Given the description of an element on the screen output the (x, y) to click on. 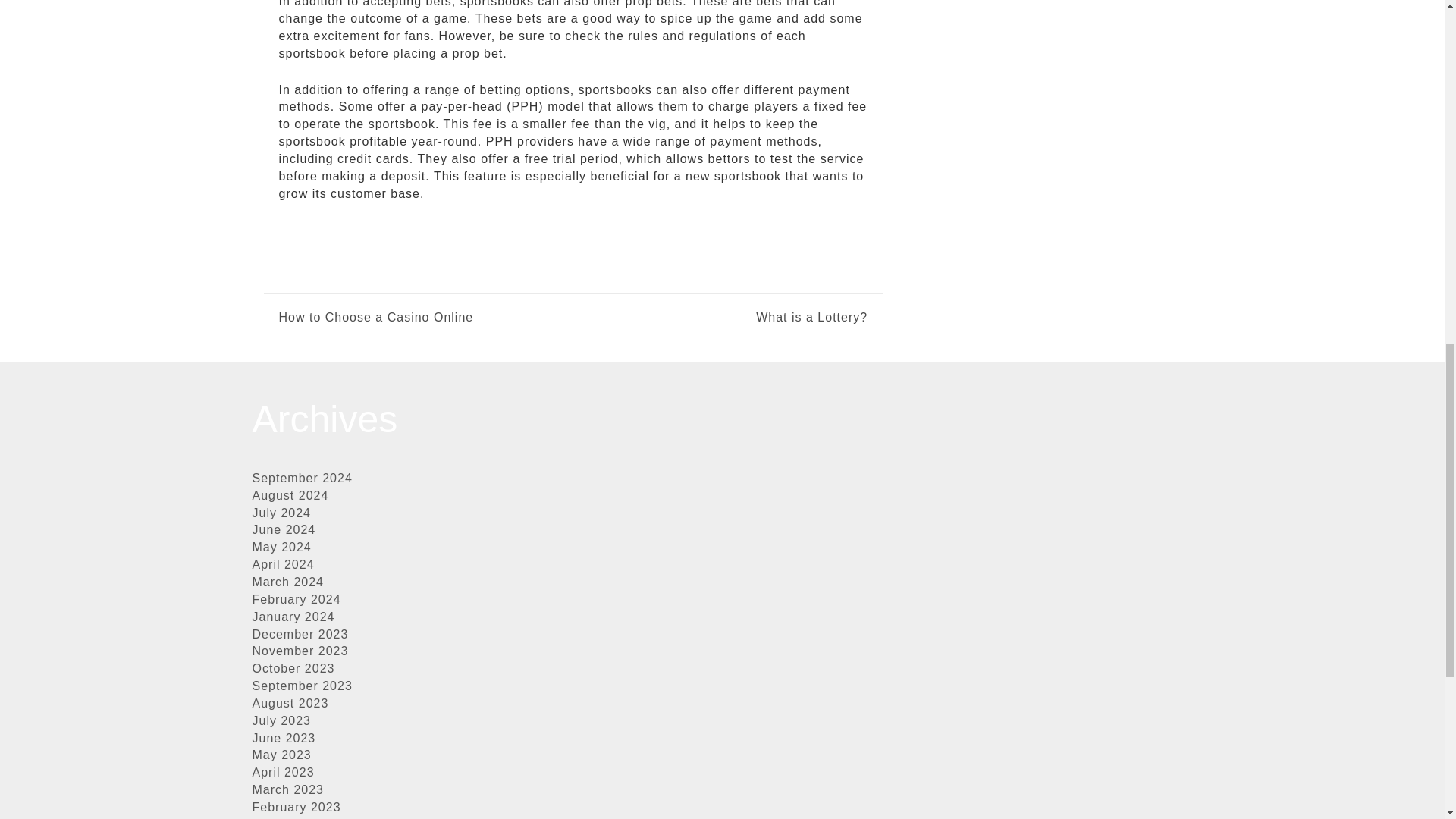
August 2024 (290, 495)
July 2024 (281, 512)
May 2023 (281, 754)
February 2024 (295, 599)
May 2024 (281, 546)
August 2023 (290, 703)
October 2023 (292, 667)
March 2024 (287, 581)
December 2023 (299, 634)
June 2024 (283, 529)
